Given the description of an element on the screen output the (x, y) to click on. 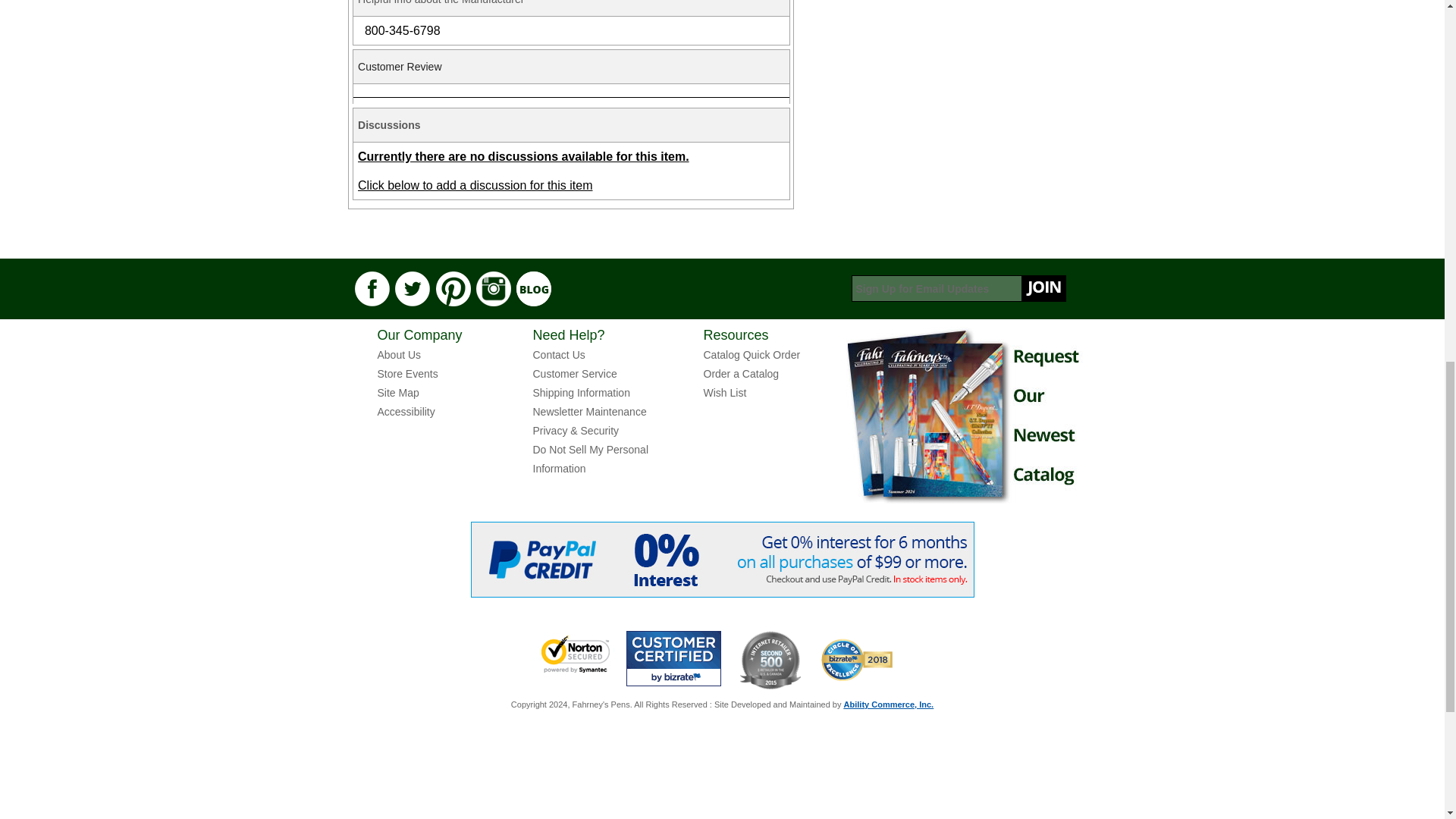
Sign Up for Email Updates (957, 288)
